Given the description of an element on the screen output the (x, y) to click on. 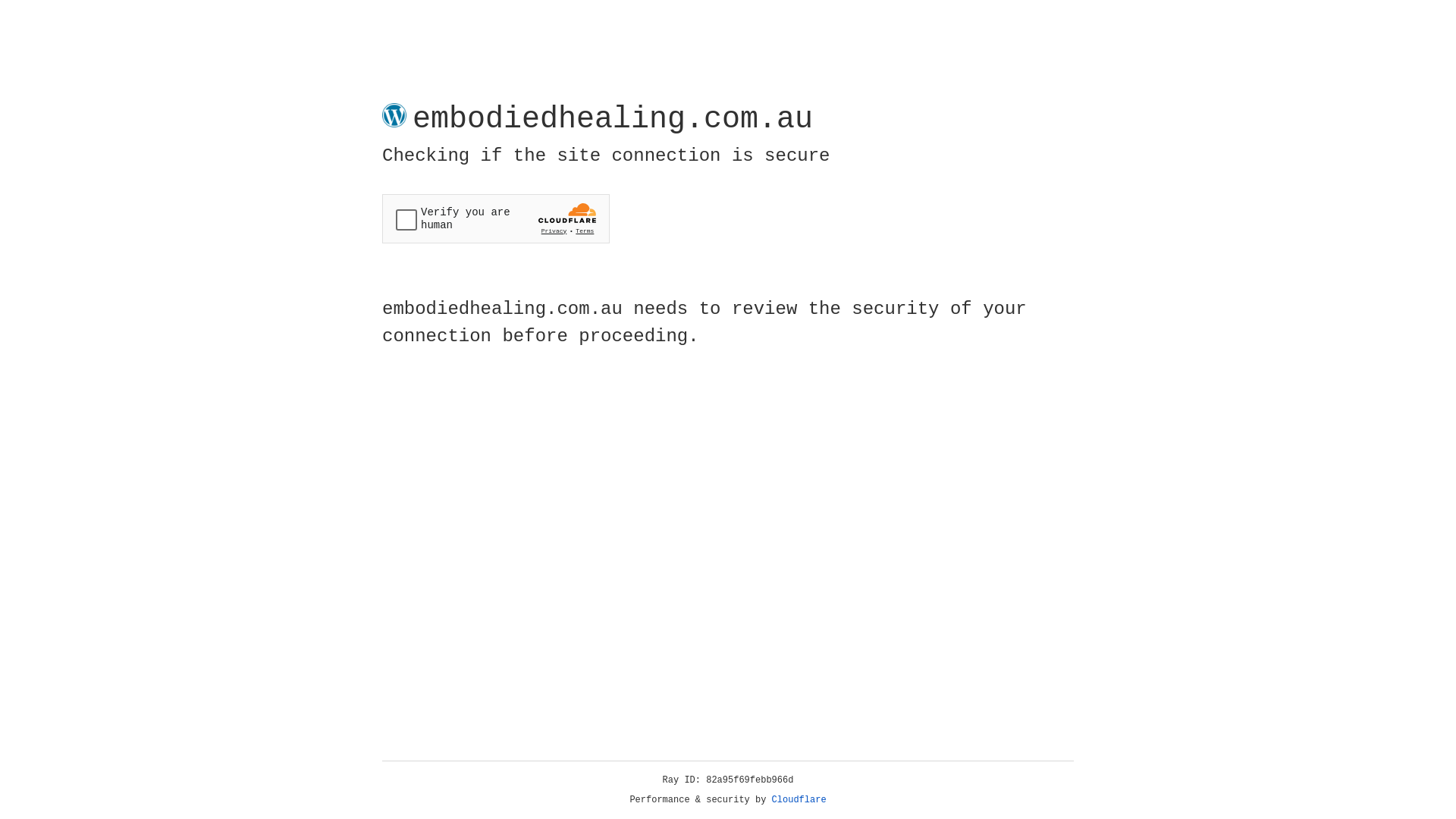
Widget containing a Cloudflare security challenge Element type: hover (495, 218)
Cloudflare Element type: text (798, 799)
